Given the description of an element on the screen output the (x, y) to click on. 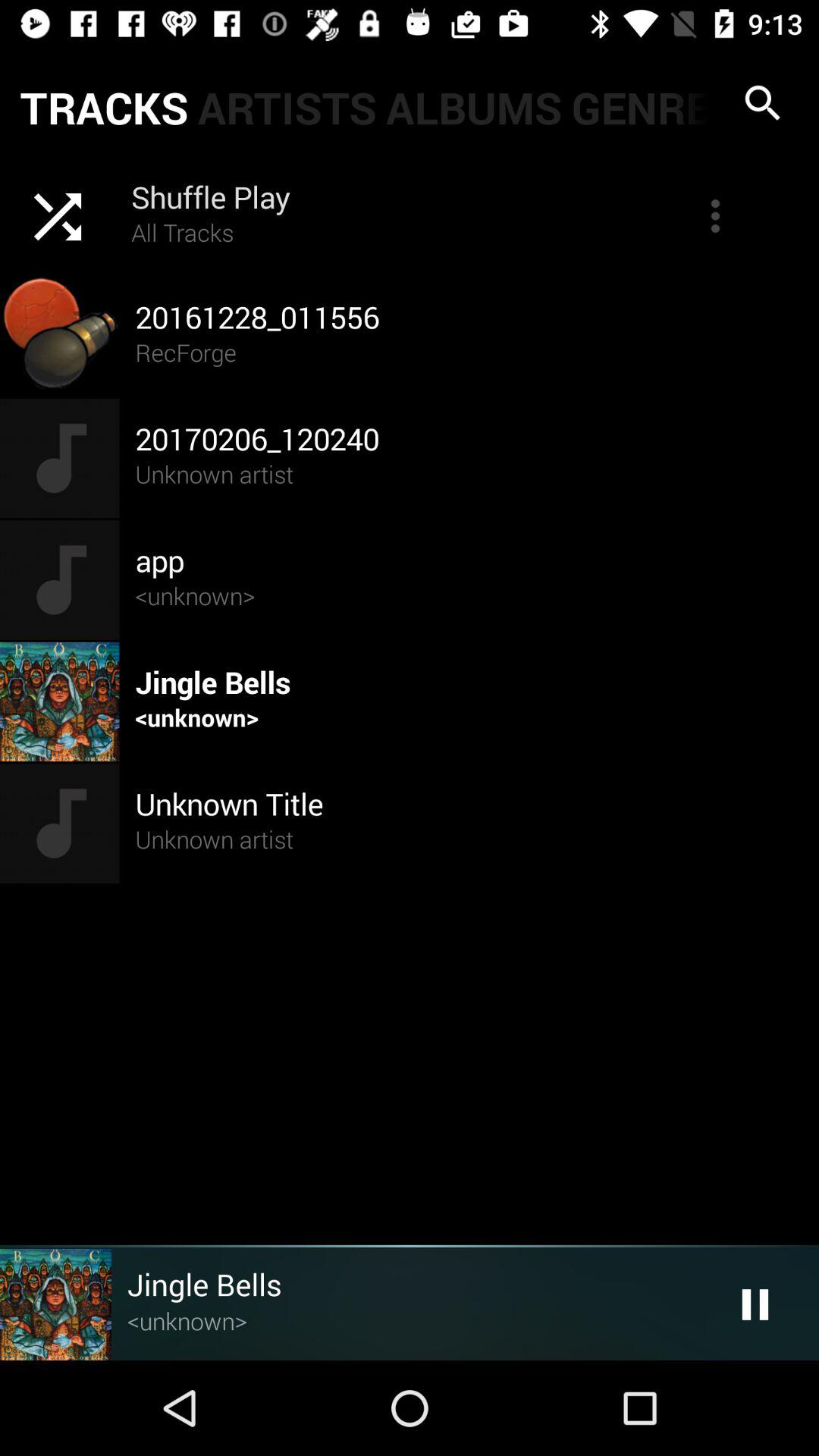
pause the action (755, 1304)
